Given the description of an element on the screen output the (x, y) to click on. 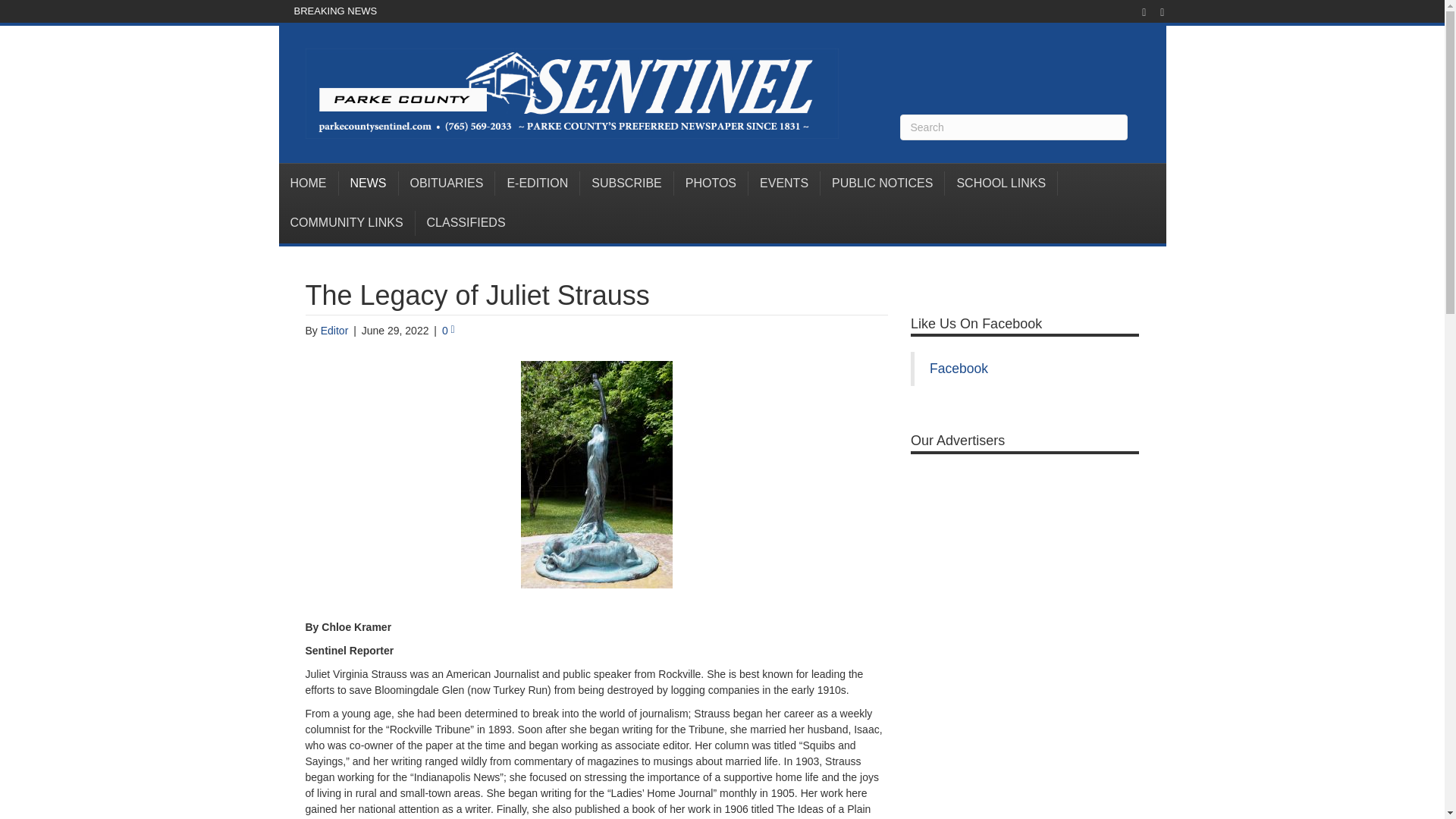
CLASSIFIEDS (465, 222)
SUBSCRIBE (625, 183)
SCHOOL LINKS (1001, 183)
Type and press Enter to search. (1012, 127)
EVENTS (784, 183)
COMMUNITY LINKS (346, 222)
NEWS (367, 183)
PHOTOS (711, 183)
OBITUARIES (447, 183)
E-EDITION (537, 183)
Email (1154, 11)
Facebook (1135, 11)
HOME (309, 183)
PUBLIC NOTICES (882, 183)
